Given the description of an element on the screen output the (x, y) to click on. 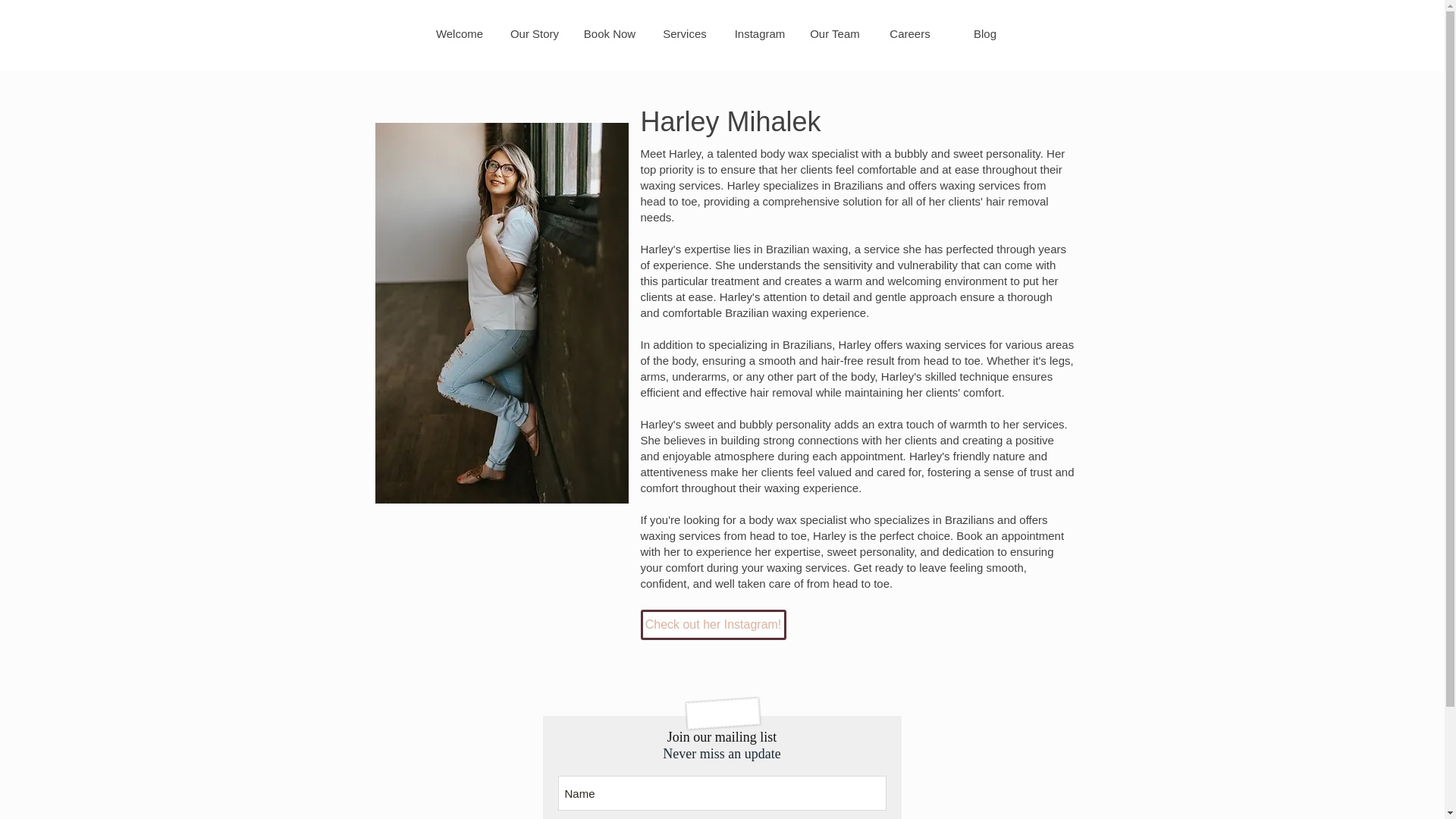
Instagram (759, 33)
Services (684, 33)
Our Story (534, 33)
Book Now (609, 33)
Our Team (834, 33)
Welcome (459, 33)
Check out her Instagram! (713, 624)
Careers (909, 33)
Blog (985, 33)
